Given the description of an element on the screen output the (x, y) to click on. 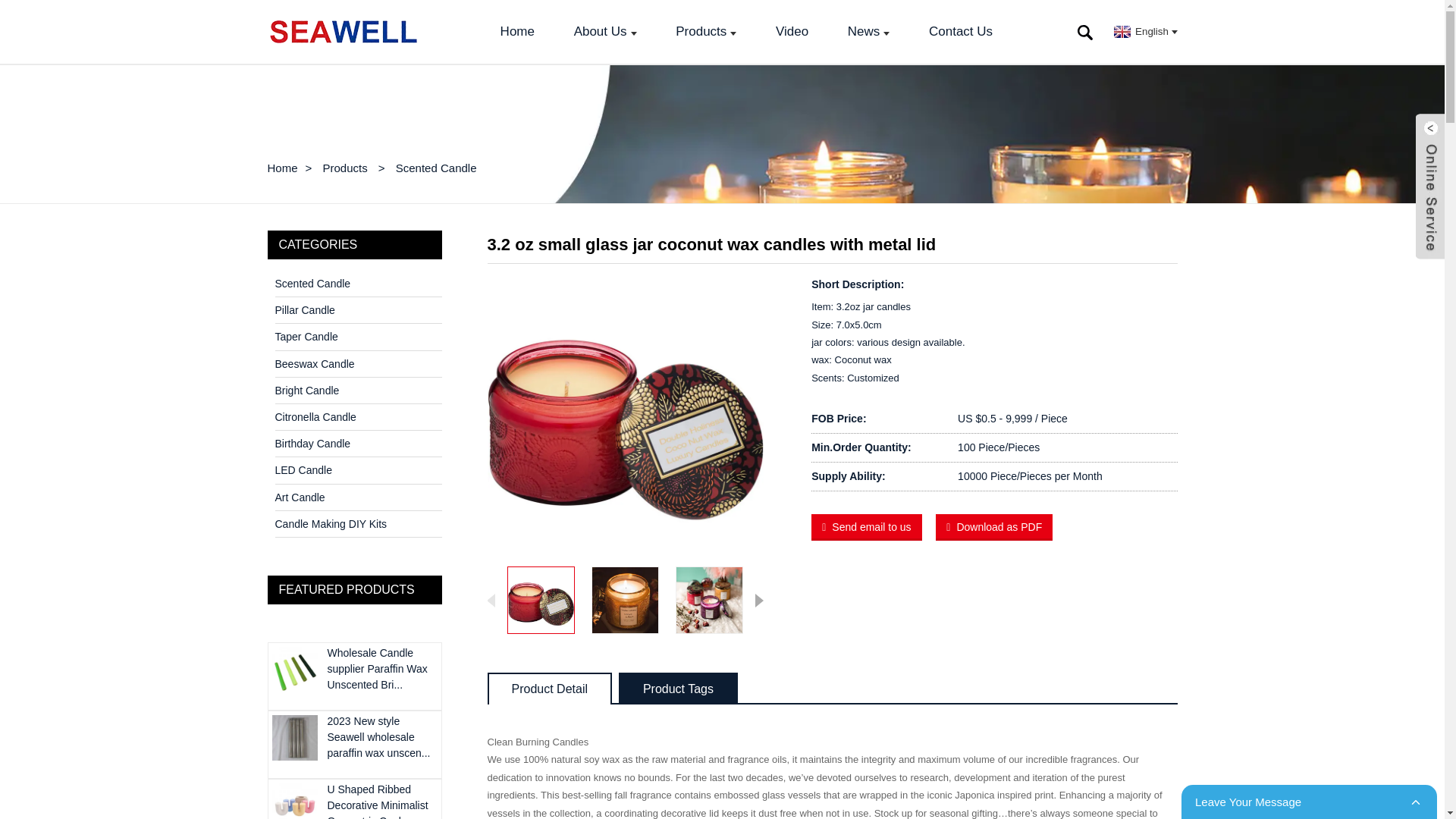
Contact Us (960, 31)
News (869, 31)
English (1142, 30)
Products (706, 31)
About Us (605, 31)
